Given the description of an element on the screen output the (x, y) to click on. 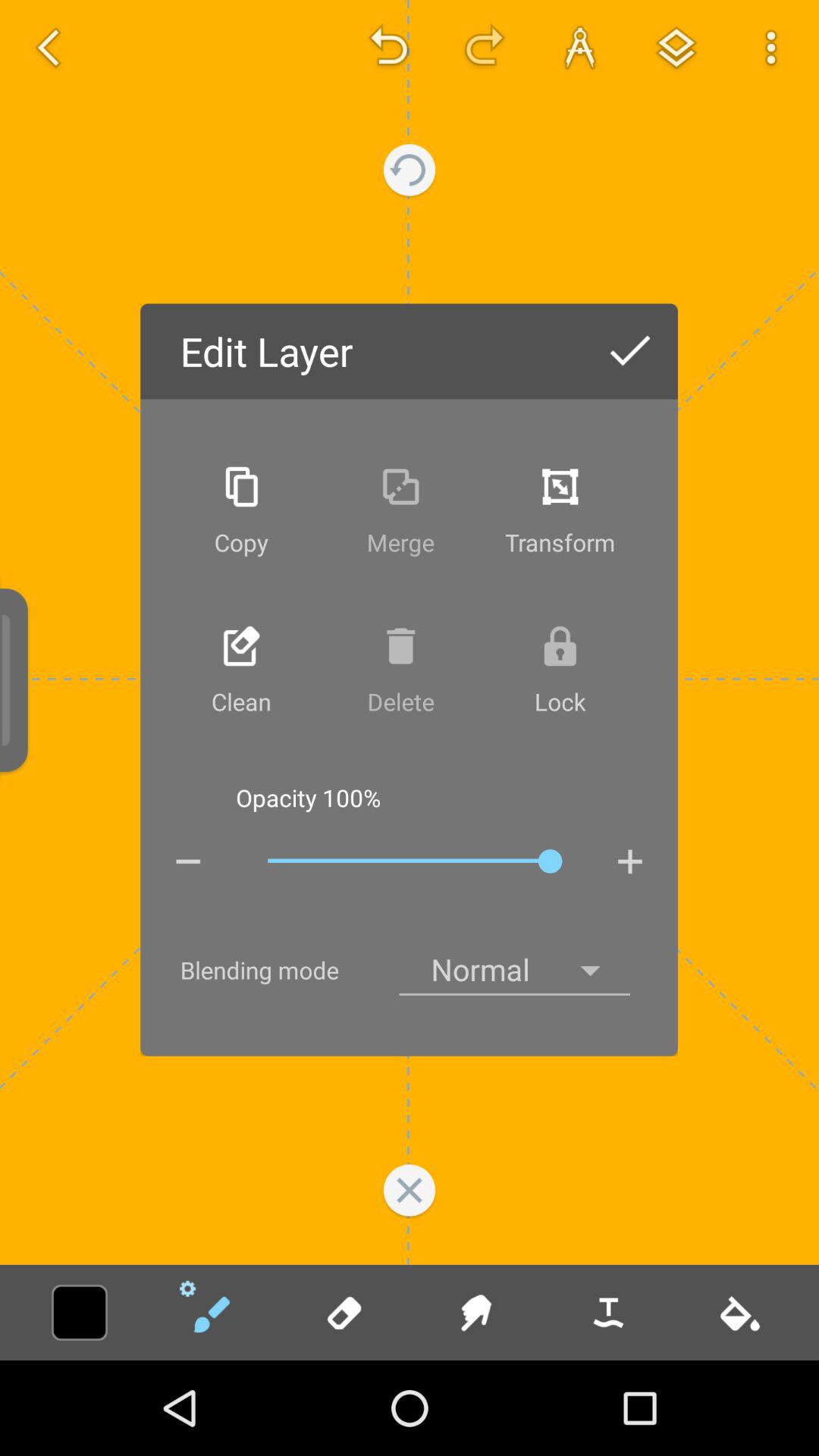
take the icon above clean (241, 646)
click on icon and text copy (240, 510)
click on right mark (630, 351)
select the icon at adjacently right of eraser (475, 1312)
